Given the description of an element on the screen output the (x, y) to click on. 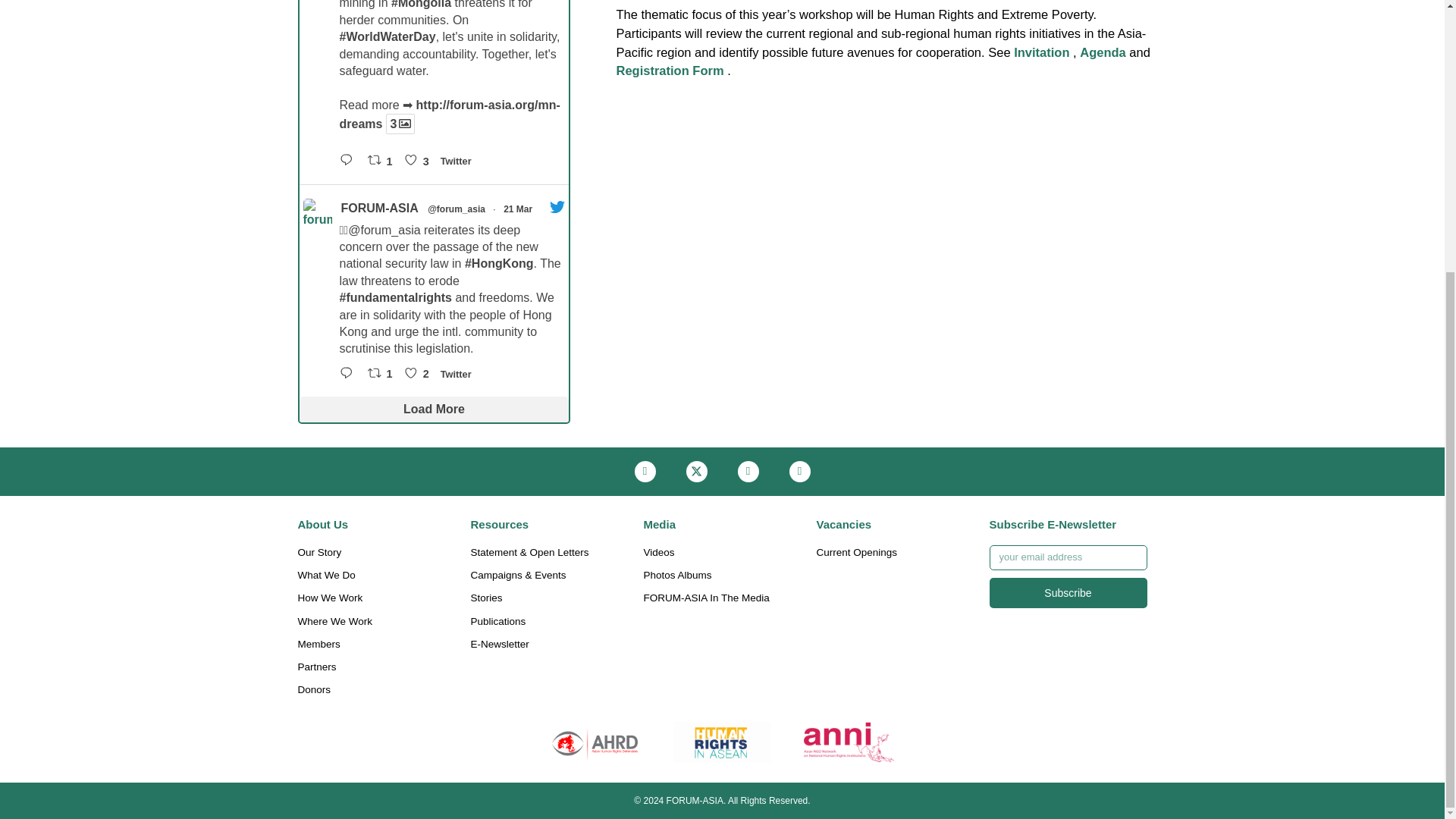
Default Title (722, 741)
Default Title (848, 741)
Default Title (595, 741)
